Given the description of an element on the screen output the (x, y) to click on. 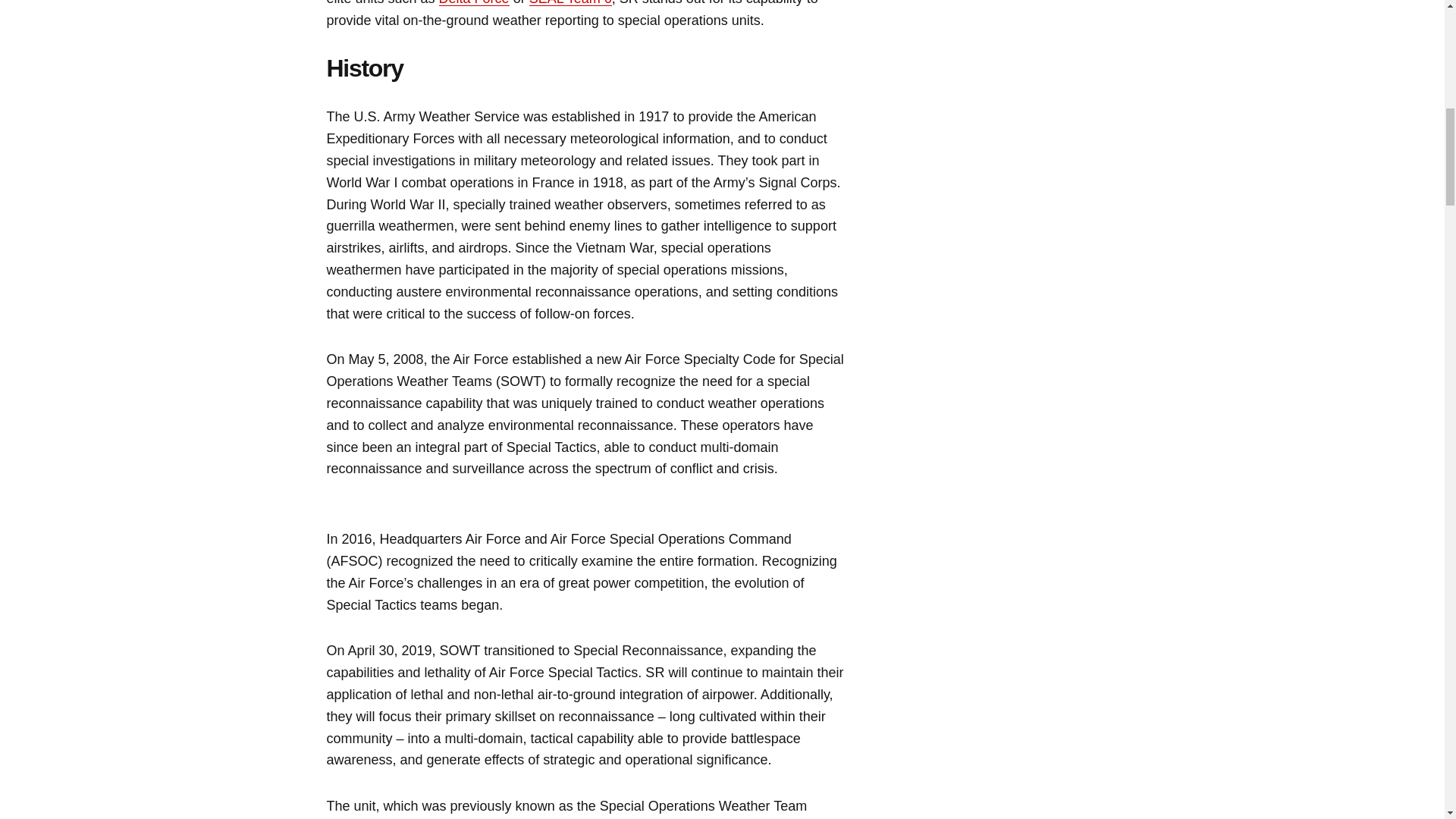
SEAL Team 6 (570, 2)
Delta Force (474, 2)
